Given the description of an element on the screen output the (x, y) to click on. 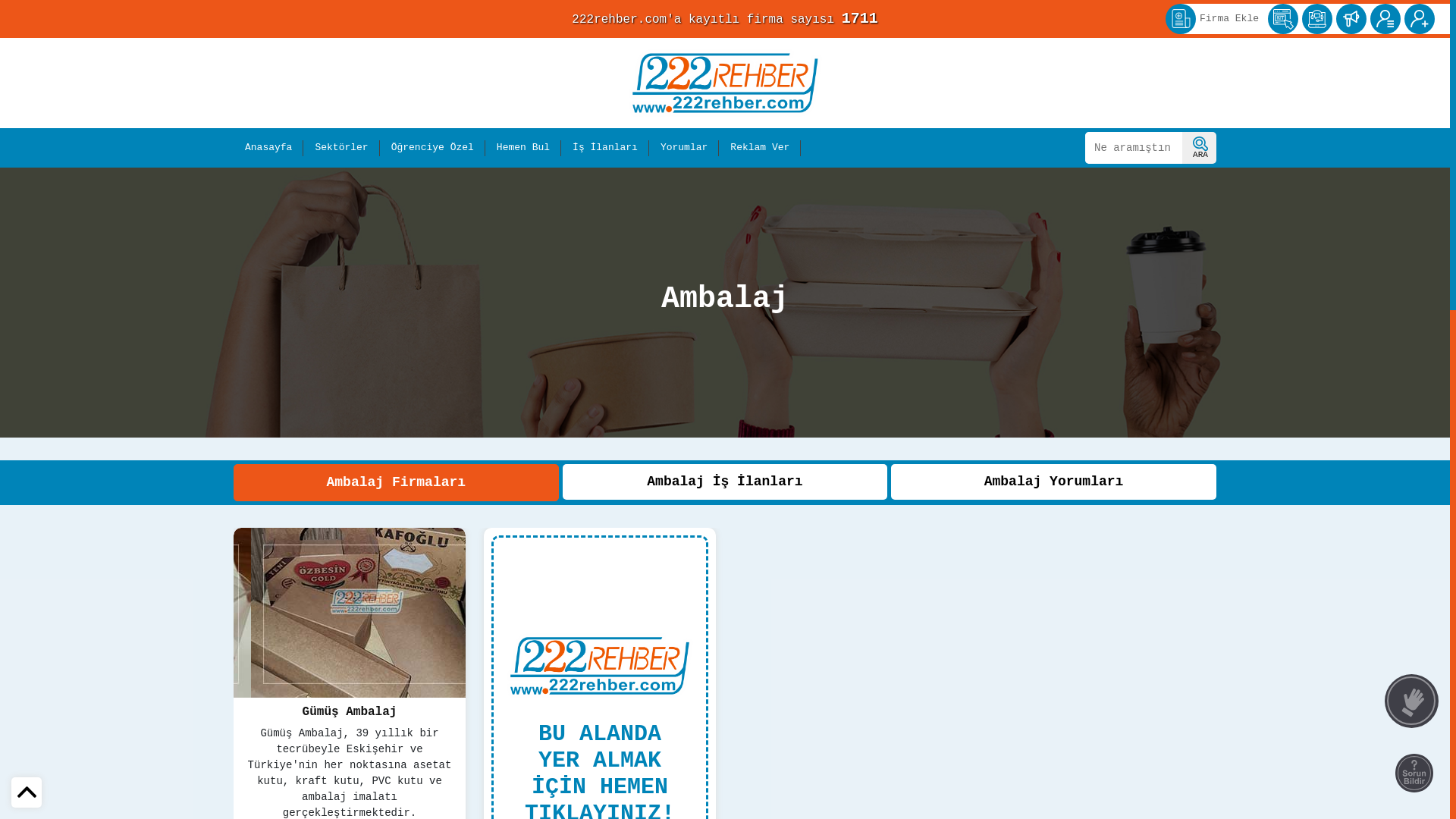
Arama Yap Element type: text (1198, 147)
Hemen Bul Element type: text (523, 147)
222Rehber.com Element type: hover (724, 82)
Reklam Ver Element type: text (759, 147)
Firma Ekle Element type: text (1233, 18)
ARA Element type: text (1200, 147)
Anasayfa Element type: text (268, 147)
Yorumlar Element type: text (683, 147)
